Given the description of an element on the screen output the (x, y) to click on. 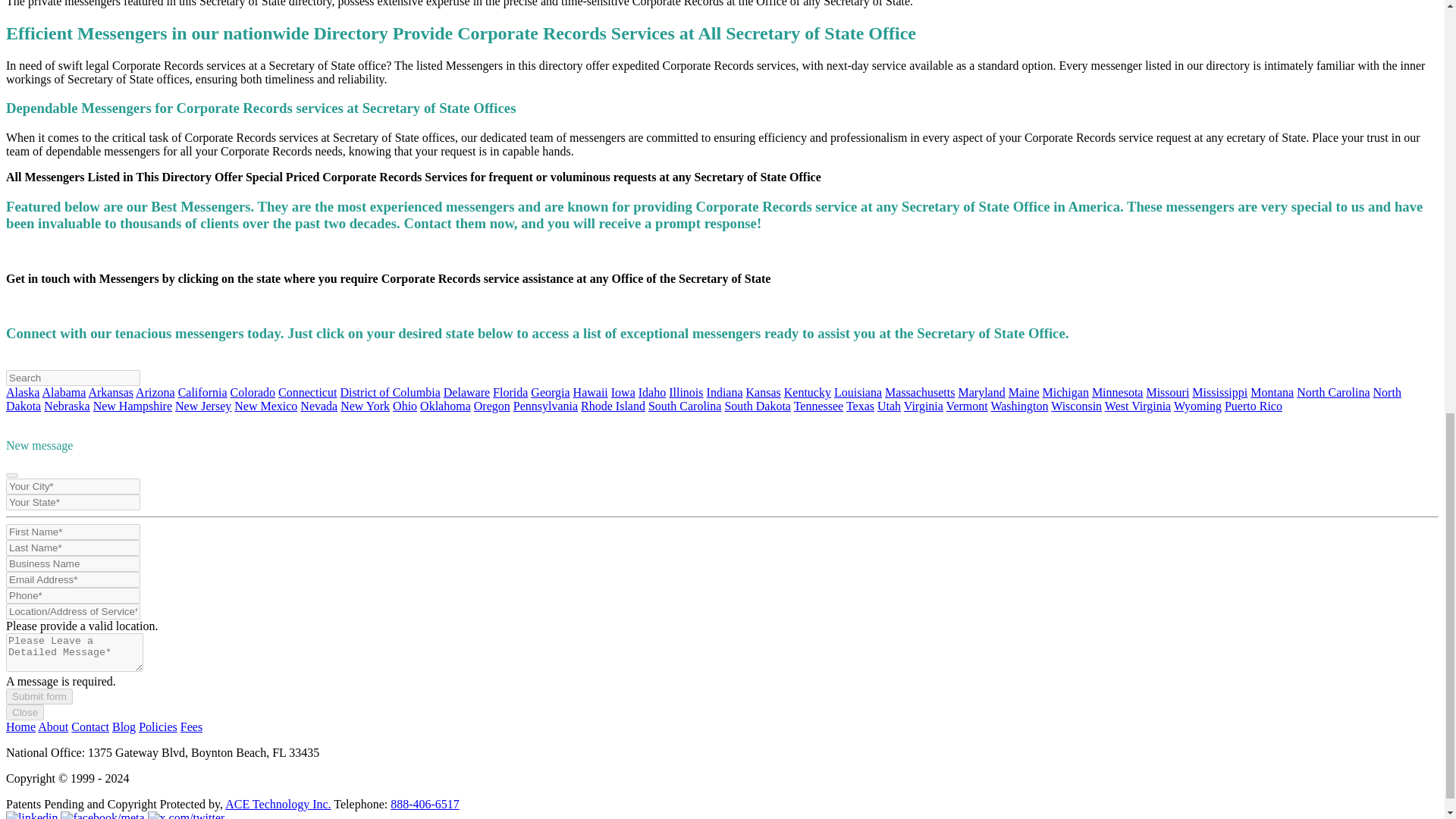
Illinois (685, 391)
Iowa (622, 391)
Alabama (63, 391)
Georgia (550, 391)
Arkansas (110, 391)
District of Columbia (389, 391)
Idaho (652, 391)
Colorado (253, 391)
Kansas (762, 391)
Arizona (154, 391)
Louisiana (858, 391)
Kentucky (807, 391)
Alaska (22, 391)
Delaware (466, 391)
Massachusetts (920, 391)
